Given the description of an element on the screen output the (x, y) to click on. 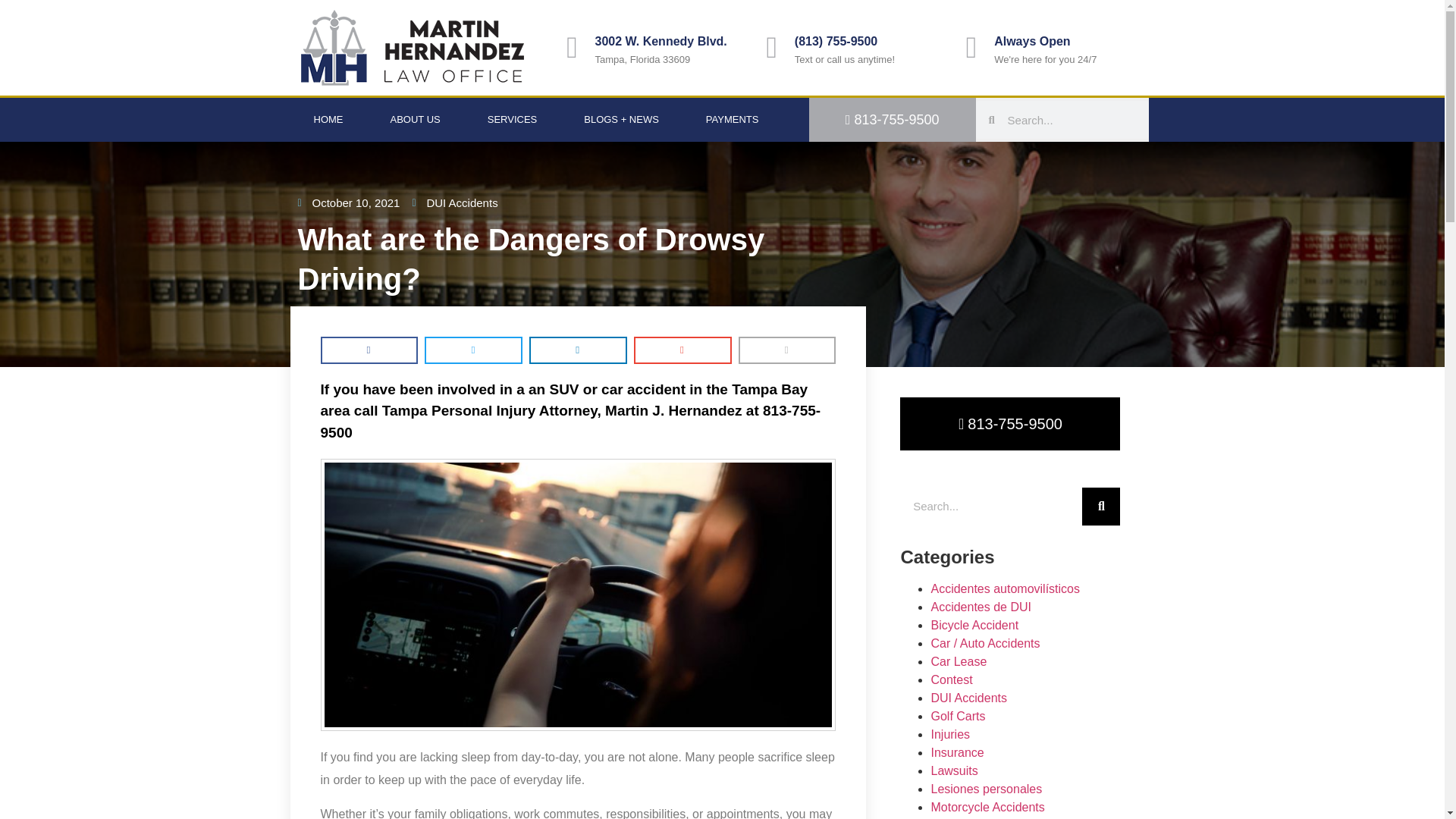
ABOUT US (415, 119)
SERVICES (512, 119)
PAYMENTS (732, 119)
HOME (327, 119)
